Given the description of an element on the screen output the (x, y) to click on. 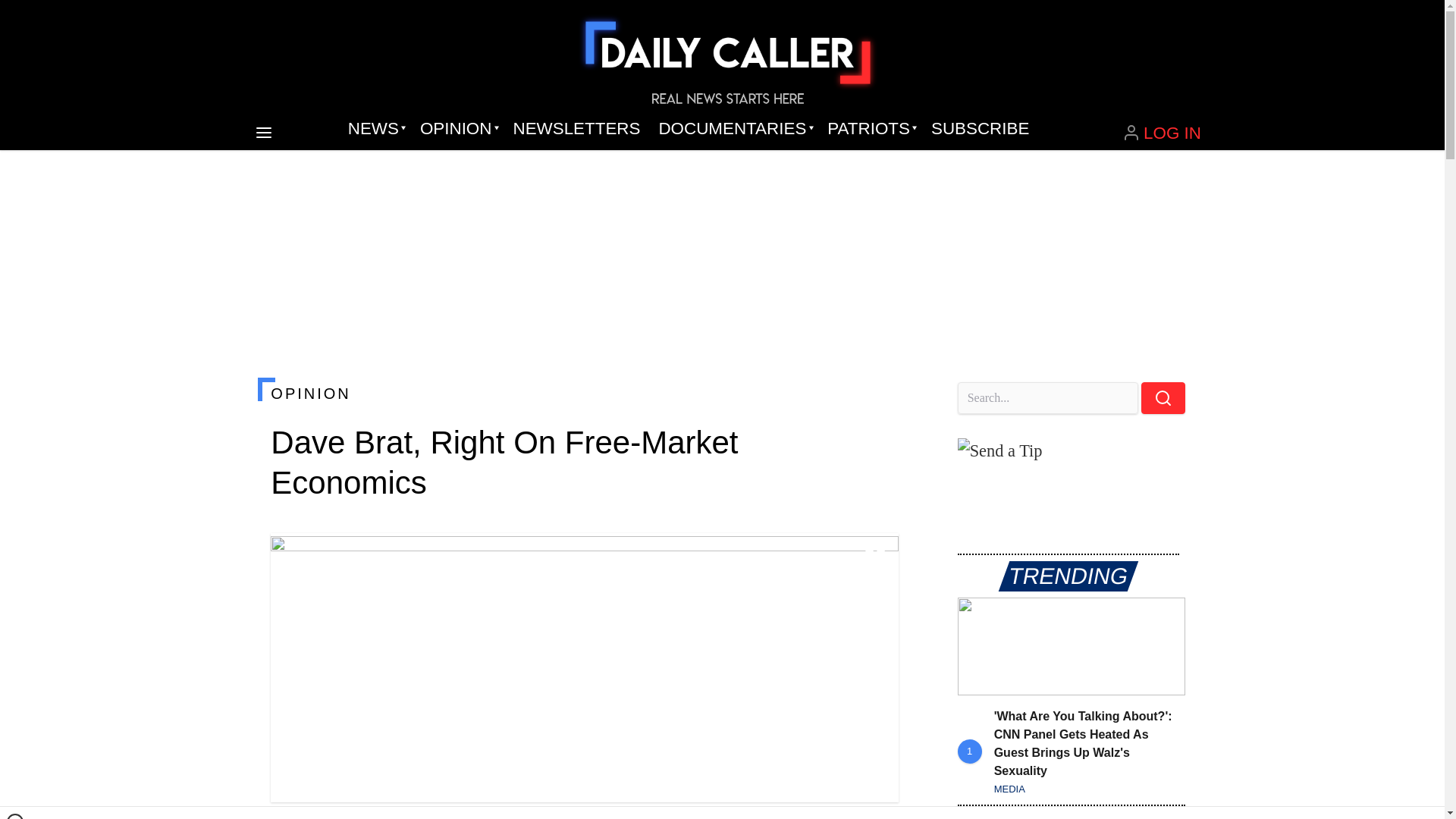
OPINION (584, 393)
Close window (14, 816)
NEWSLETTERS (576, 128)
Toggle fullscreen (874, 556)
OPINION (456, 128)
SUBSCRIBE (979, 128)
DOCUMENTARIES (733, 128)
NEWS (374, 128)
PATRIOTS (869, 128)
